Given the description of an element on the screen output the (x, y) to click on. 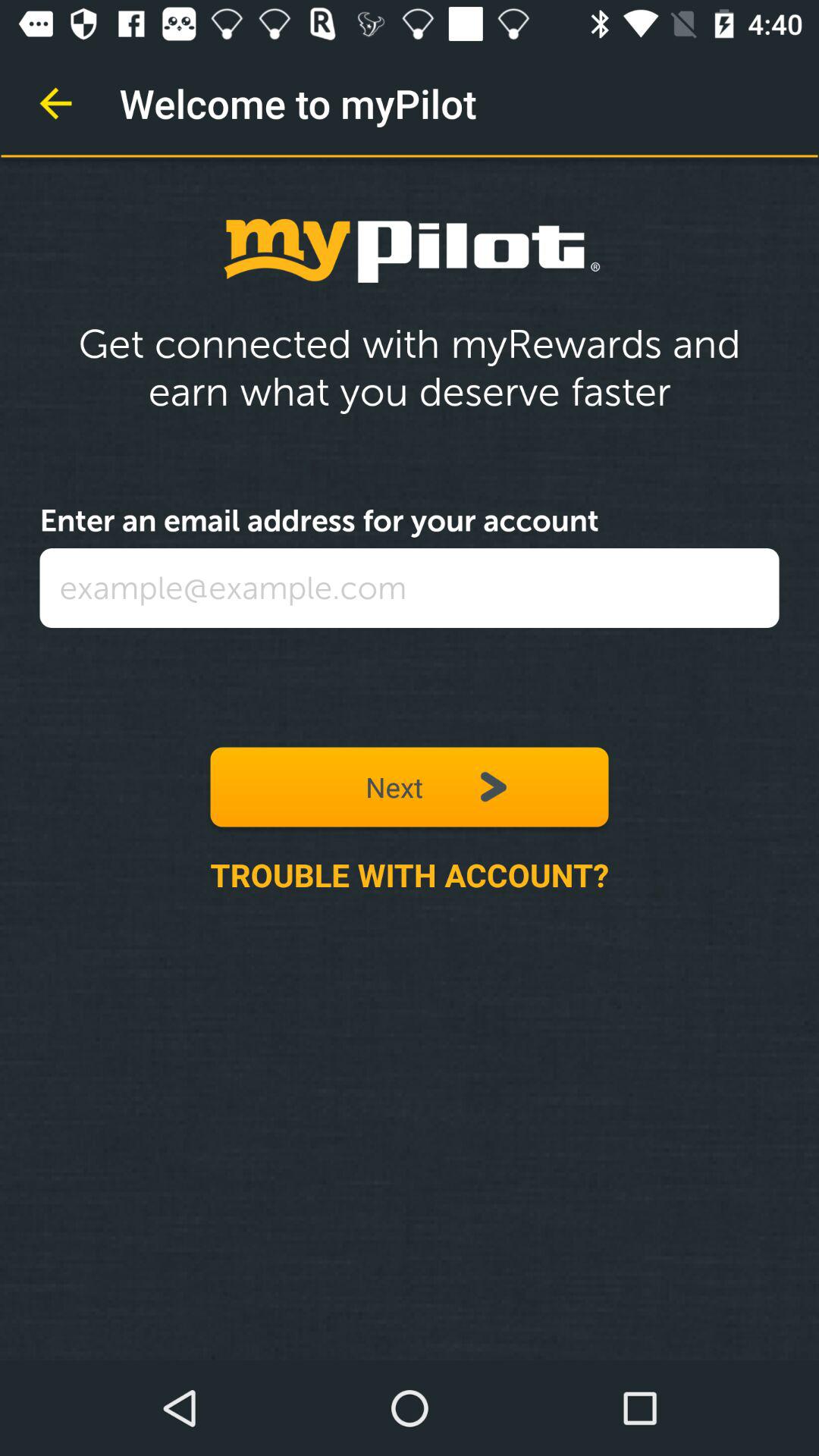
scroll to next (409, 786)
